Given the description of an element on the screen output the (x, y) to click on. 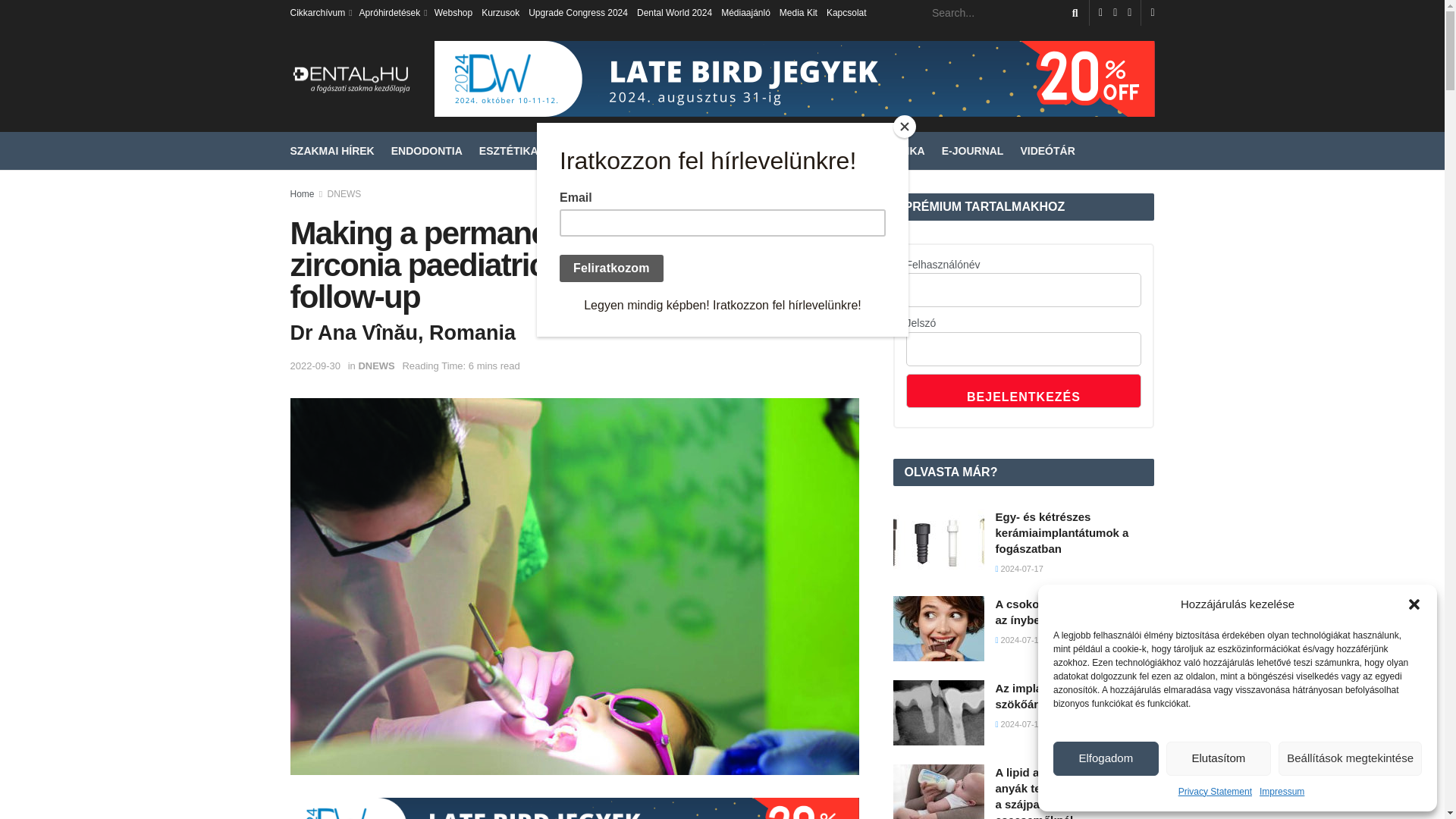
Kurzusok (500, 12)
Impressum (1281, 791)
Webshop (452, 12)
Dental World 2024 (674, 12)
Privacy Statement (1214, 791)
Media Kit (797, 12)
Kapcsolat (846, 12)
Please enter password (1023, 349)
Please enter username (1023, 289)
Upgrade Congress 2024 (577, 12)
Elfogadom (1105, 758)
